Given the description of an element on the screen output the (x, y) to click on. 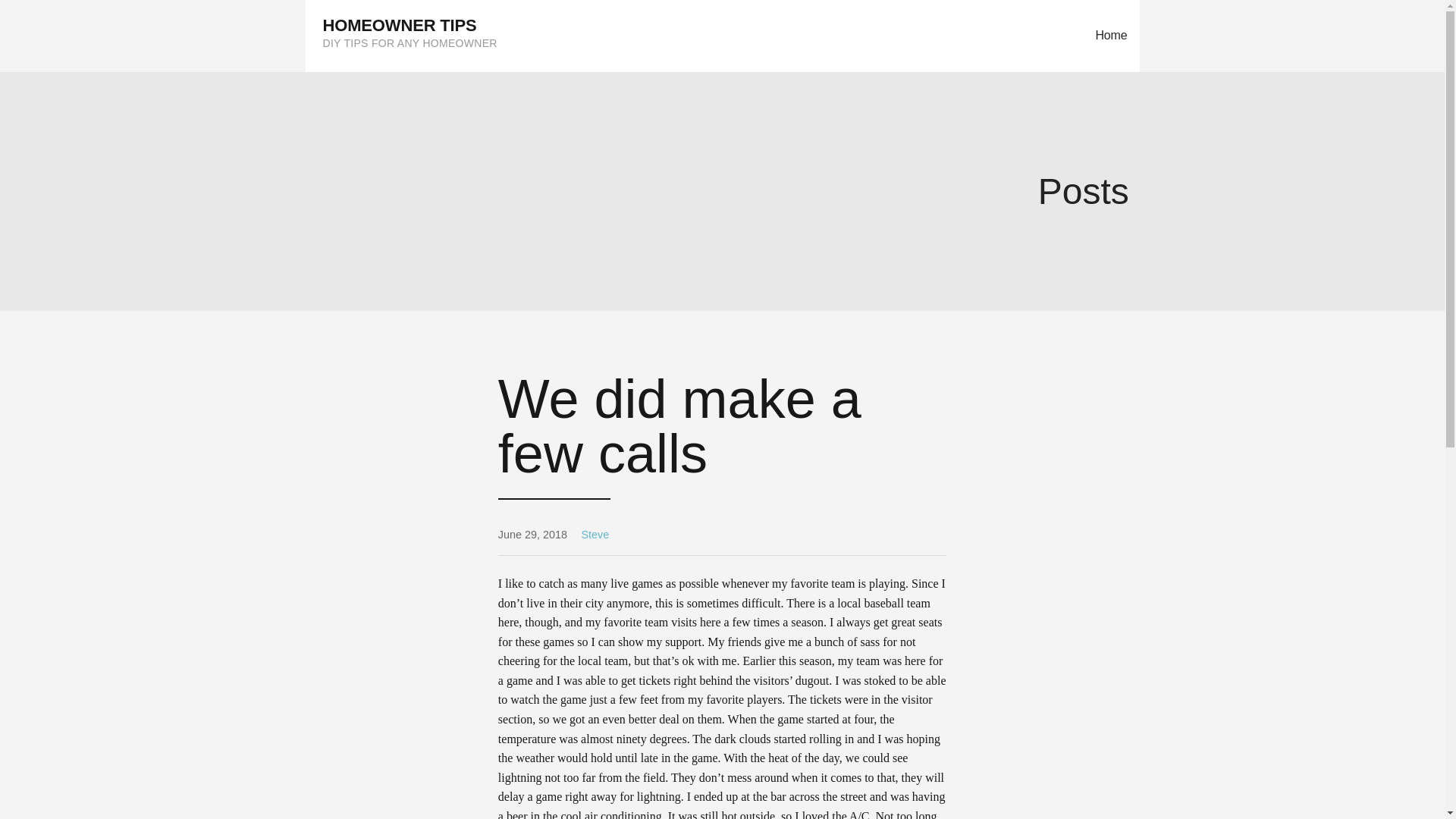
HOMEOWNER TIPS (400, 25)
Posts by Steve (594, 534)
Steve (594, 534)
